Given the description of an element on the screen output the (x, y) to click on. 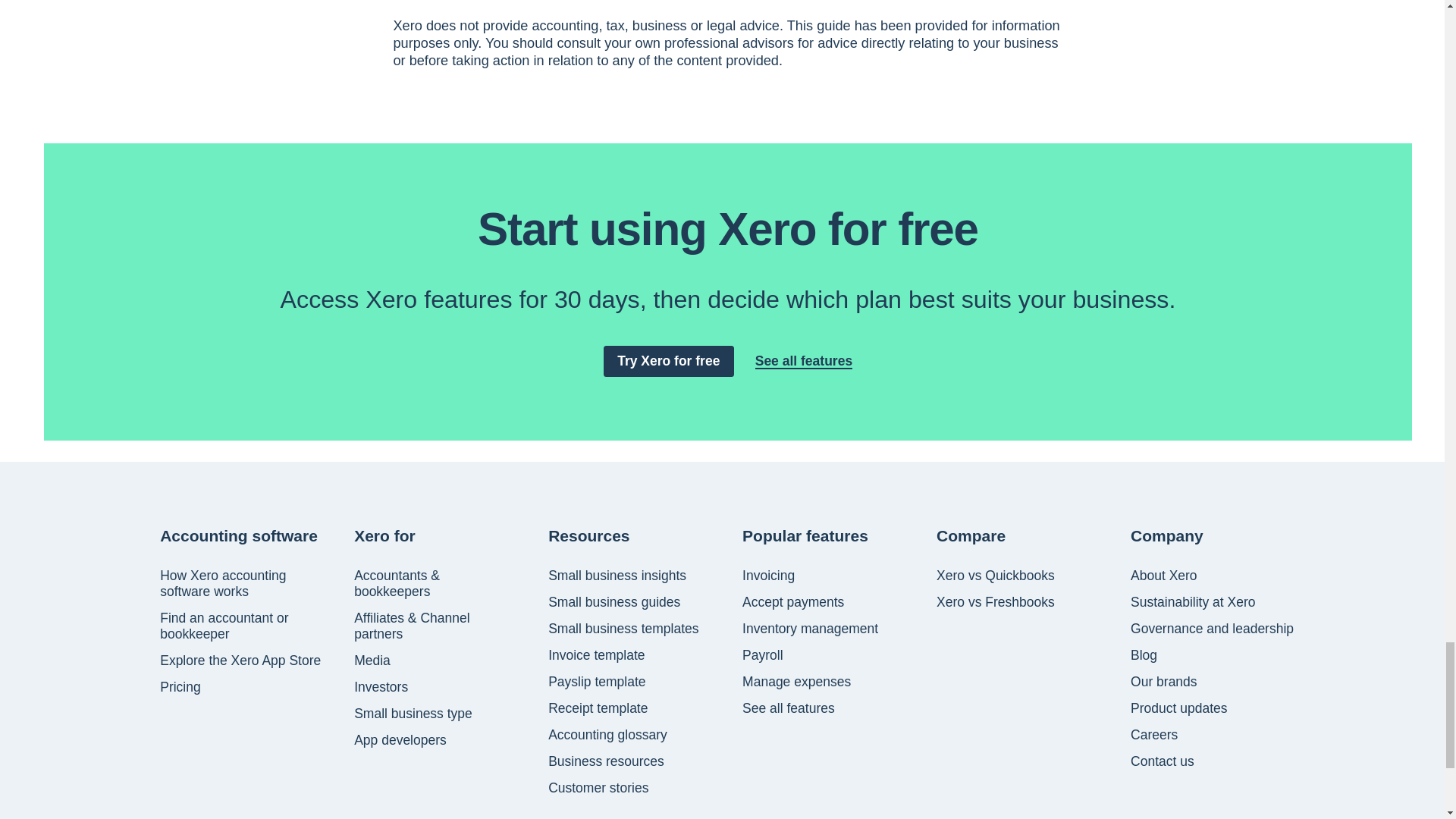
Small business type (412, 713)
Find an accountant or bookkeeper (242, 626)
Small business insights (616, 575)
Pricing (180, 687)
Media (371, 660)
Investors (380, 687)
App developers (399, 740)
Small business templates (623, 628)
Invoice template (596, 655)
Accounting glossary (607, 734)
